Given the description of an element on the screen output the (x, y) to click on. 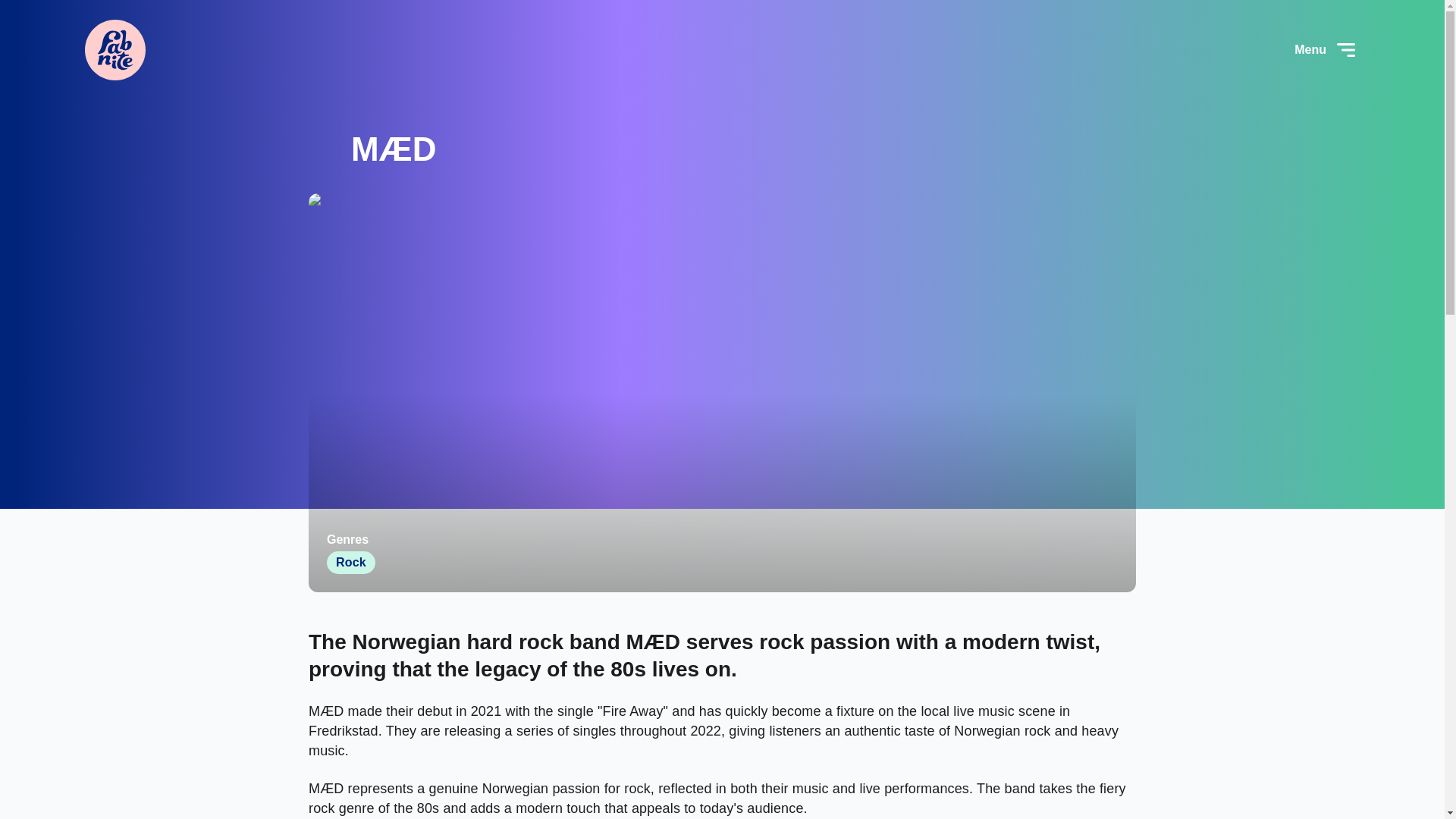
Menu (1326, 49)
